Given the description of an element on the screen output the (x, y) to click on. 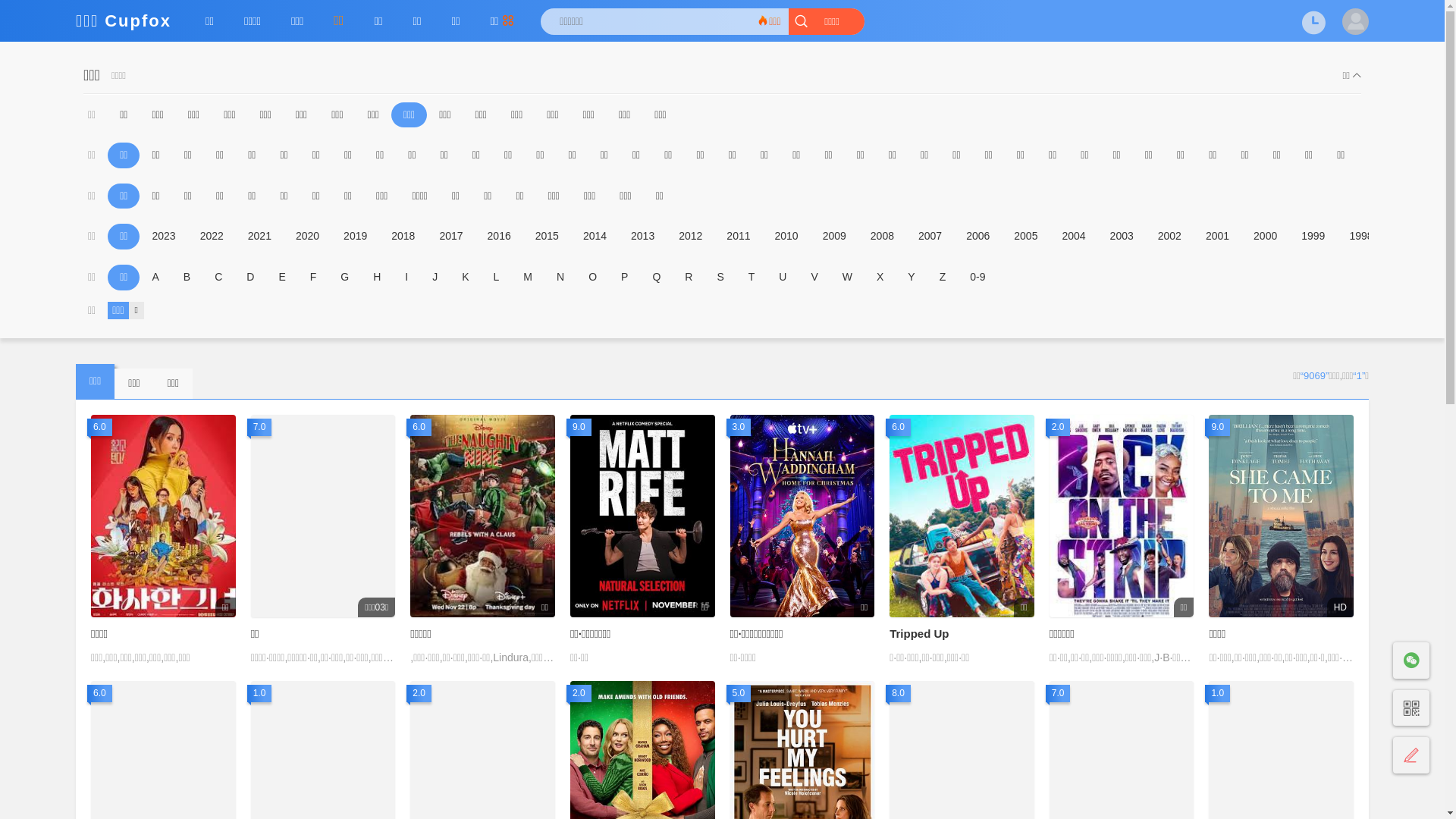
O Element type: text (592, 277)
2016 Element type: text (499, 236)
D Element type: text (250, 277)
2014 Element type: text (594, 236)
2008 Element type: text (882, 236)
Q Element type: text (656, 277)
X Element type: text (879, 277)
2017 Element type: text (450, 236)
C Element type: text (218, 277)
2009 Element type: text (834, 236)
2021 Element type: text (259, 236)
2022 Element type: text (211, 236)
9.0
HD Element type: text (1280, 515)
2000 Element type: text (1265, 236)
M Element type: text (527, 277)
E Element type: text (281, 277)
K Element type: text (464, 277)
2013 Element type: text (642, 236)
G Element type: text (344, 277)
2019 Element type: text (355, 236)
2003 Element type: text (1121, 236)
2010 Element type: text (786, 236)
2015 Element type: text (547, 236)
2002 Element type: text (1169, 236)
2018 Element type: text (402, 236)
1998 Element type: text (1360, 236)
0-9 Element type: text (977, 277)
Tripped Up Element type: text (918, 633)
2023 Element type: text (163, 236)
2005 Element type: text (1025, 236)
Y Element type: text (910, 277)
2012 Element type: text (690, 236)
2007 Element type: text (929, 236)
W Element type: text (847, 277)
N Element type: text (560, 277)
1999 Element type: text (1312, 236)
S Element type: text (719, 277)
Z Element type: text (942, 277)
A Element type: text (154, 277)
J Element type: text (434, 277)
T Element type: text (751, 277)
V Element type: text (813, 277)
U Element type: text (782, 277)
B Element type: text (186, 277)
2020 Element type: text (307, 236)
H Element type: text (376, 277)
F Element type: text (313, 277)
2006 Element type: text (977, 236)
I Element type: text (406, 277)
R Element type: text (688, 277)
2004 Element type: text (1073, 236)
P Element type: text (624, 277)
2001 Element type: text (1217, 236)
2011 Element type: text (738, 236)
L Element type: text (496, 277)
